Given the description of an element on the screen output the (x, y) to click on. 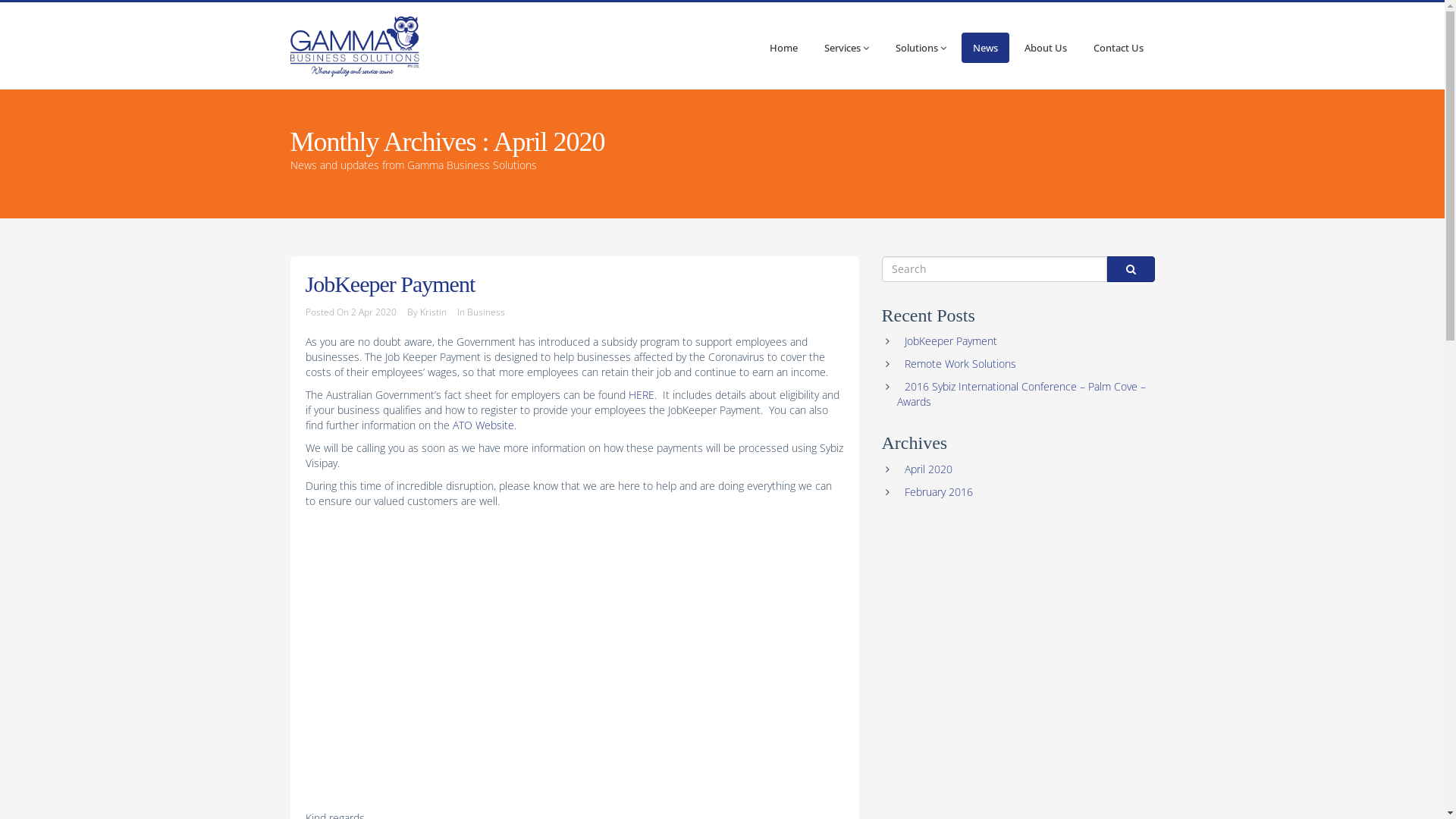
April 2020 Element type: text (927, 468)
JobKeeper Payment Element type: text (389, 283)
HERE Element type: text (640, 394)
Remote Work Solutions Element type: text (959, 363)
Home Element type: text (783, 47)
JobKeeper Payment Element type: text (949, 340)
About Us Element type: text (1045, 47)
Solutions Element type: text (920, 47)
Contact Us Element type: text (1117, 47)
February 2016 Element type: text (937, 491)
Kristin Element type: text (433, 311)
Business Element type: text (486, 311)
News Element type: text (985, 47)
ATO Website. Element type: text (483, 424)
Services Element type: text (846, 47)
